Given the description of an element on the screen output the (x, y) to click on. 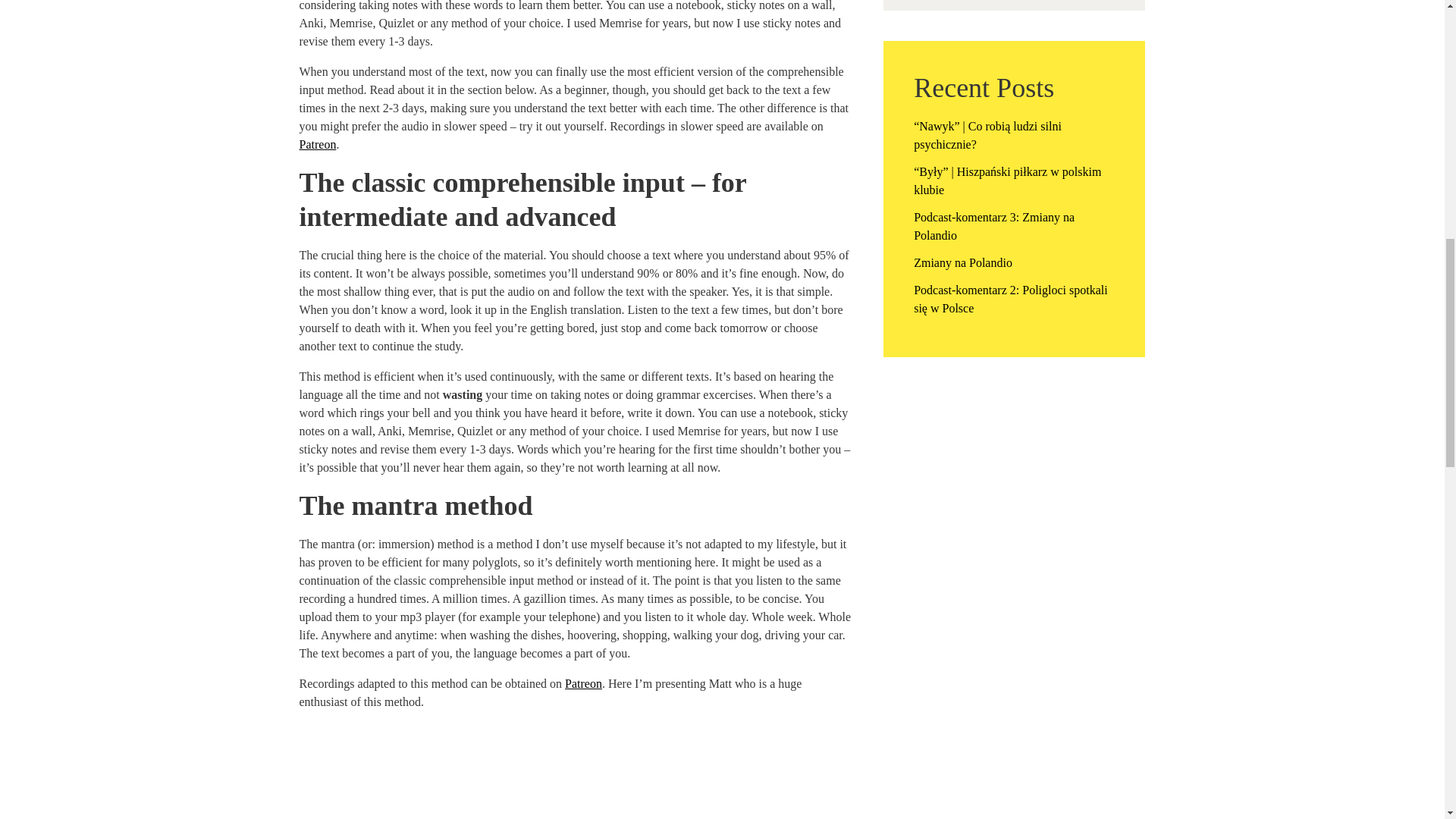
How to Immerse: Listening (575, 771)
Patreon (583, 683)
Patreon (317, 144)
